Given the description of an element on the screen output the (x, y) to click on. 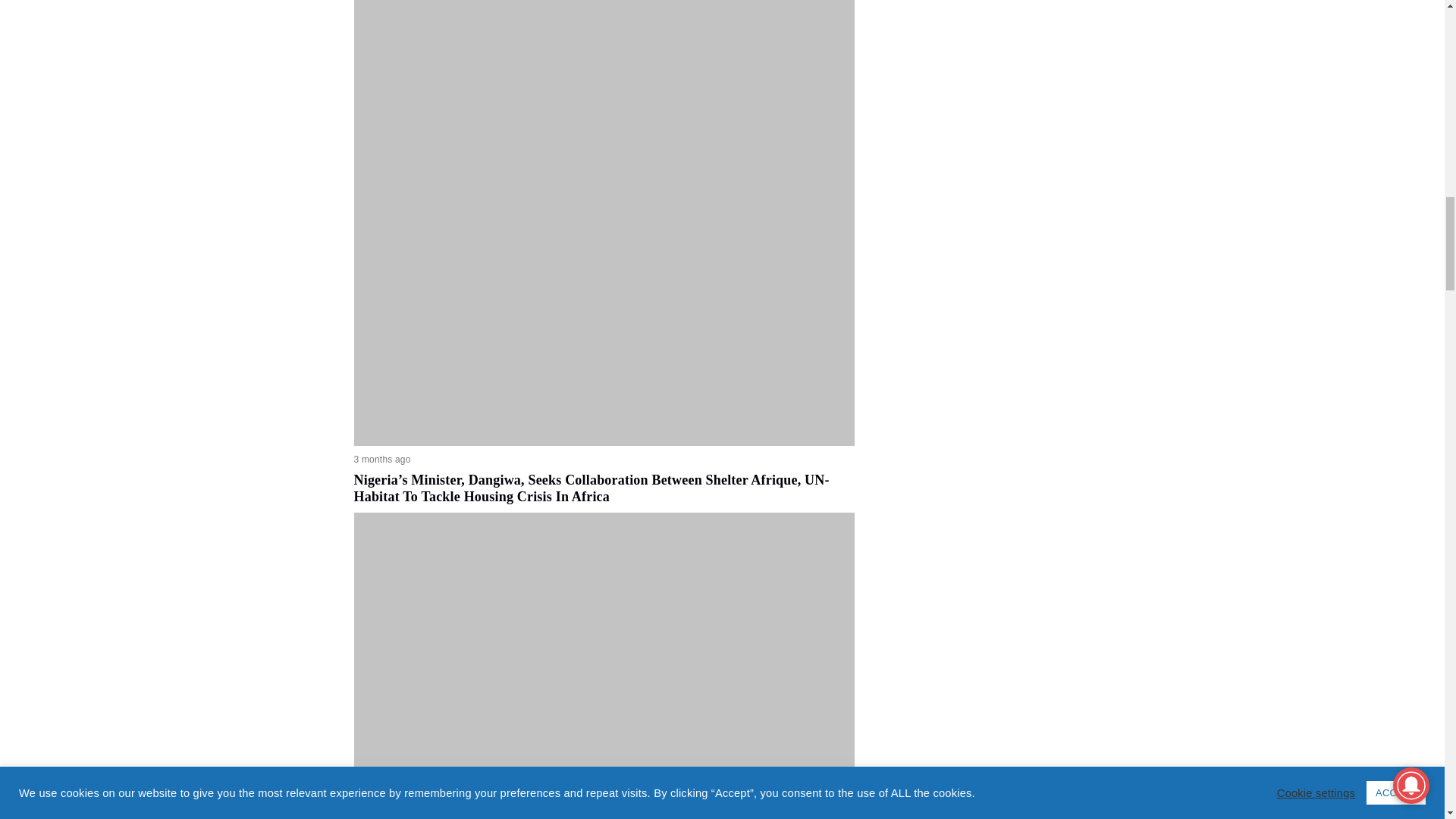
10 May, 2024 21:10:00 (381, 459)
